Given the description of an element on the screen output the (x, y) to click on. 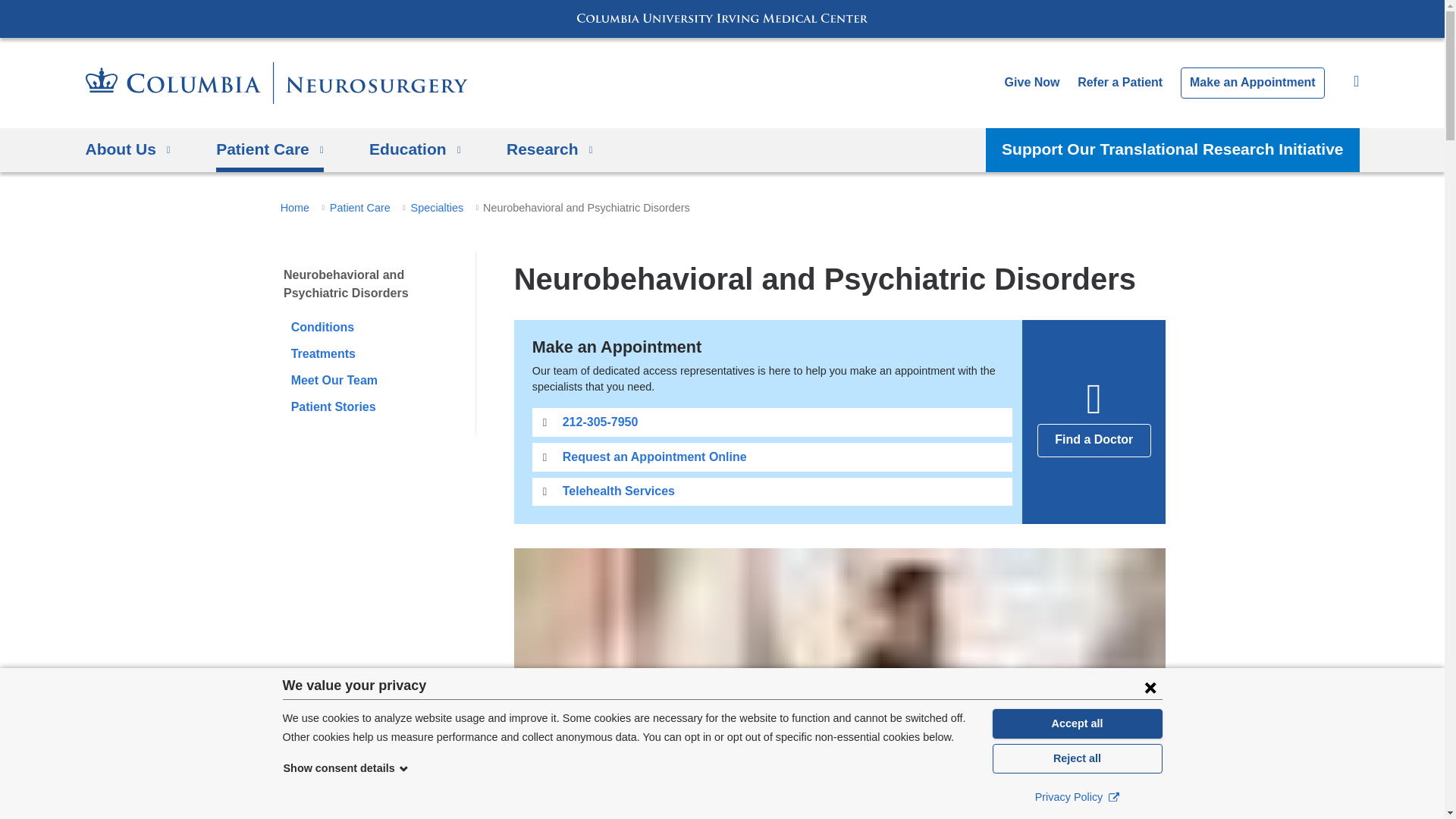
Show consent details (346, 768)
Columbia University Irving Medical Center (721, 17)
Reject all (1076, 758)
Privacy Policy External link Opens in a new window (1076, 796)
About Us (127, 149)
Home (275, 83)
External link Opens in a new window (1113, 796)
Give Now (1031, 82)
Patient Care (269, 149)
Make an Appointment (1252, 82)
Refer a Patient (1119, 82)
Accept all (1076, 723)
